Given the description of an element on the screen output the (x, y) to click on. 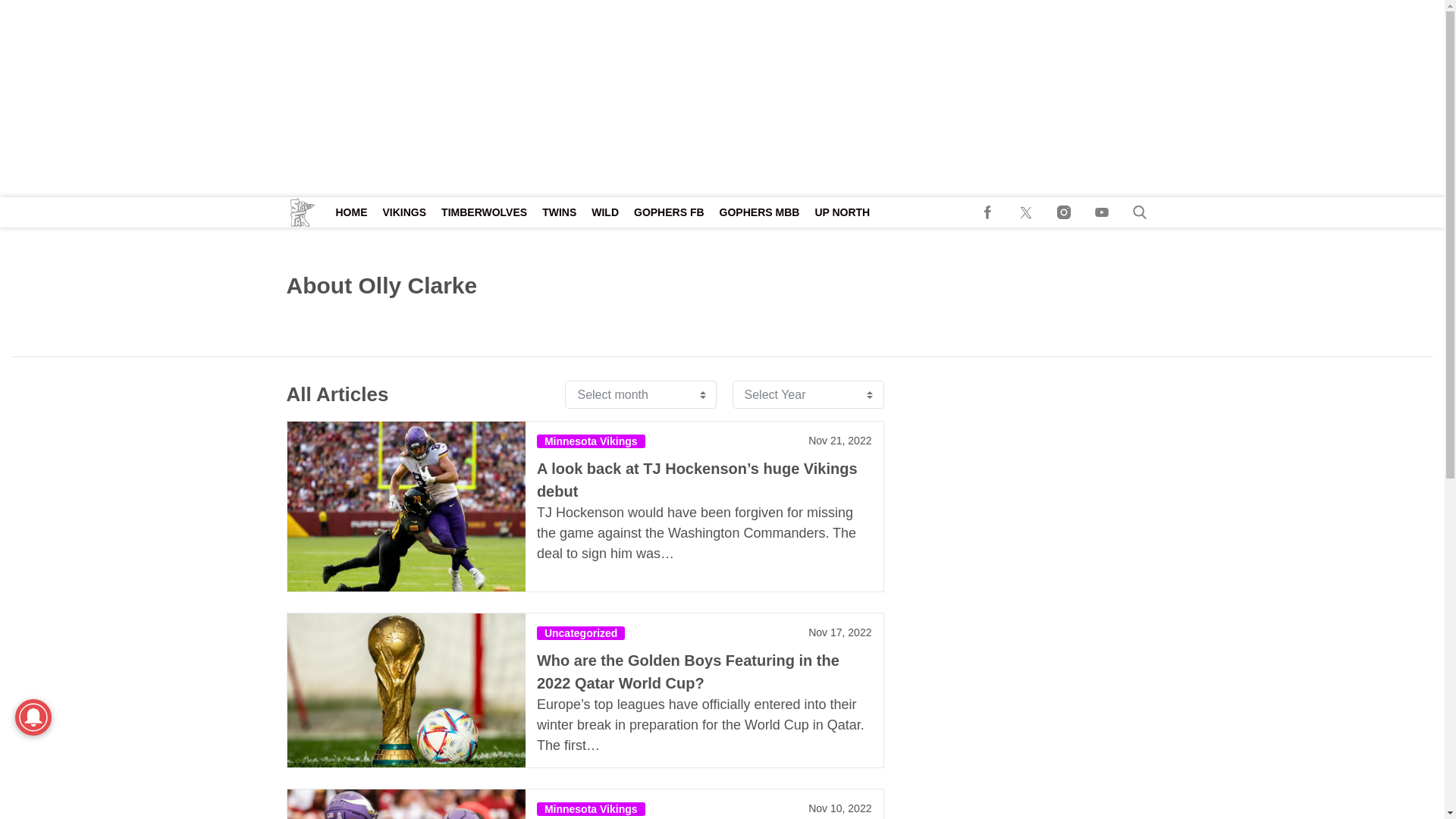
GOPHERS FB (668, 212)
Subscribe to our YouTube channel (1102, 212)
WILD (604, 212)
Follow us on Instagram (1064, 212)
Follow us on Twitter (1026, 212)
Uncategorized (580, 632)
Photo: Scott Taetsch - Getty Images (405, 506)
TWINS (558, 212)
HOME (350, 212)
Minnesota Vikings (591, 808)
Photo: Geoff Burke - USA TODAY Sports (405, 804)
TIMBERWOLVES (483, 212)
Minnesota Vikings (591, 440)
Follow us on Facebook (988, 212)
